Given the description of an element on the screen output the (x, y) to click on. 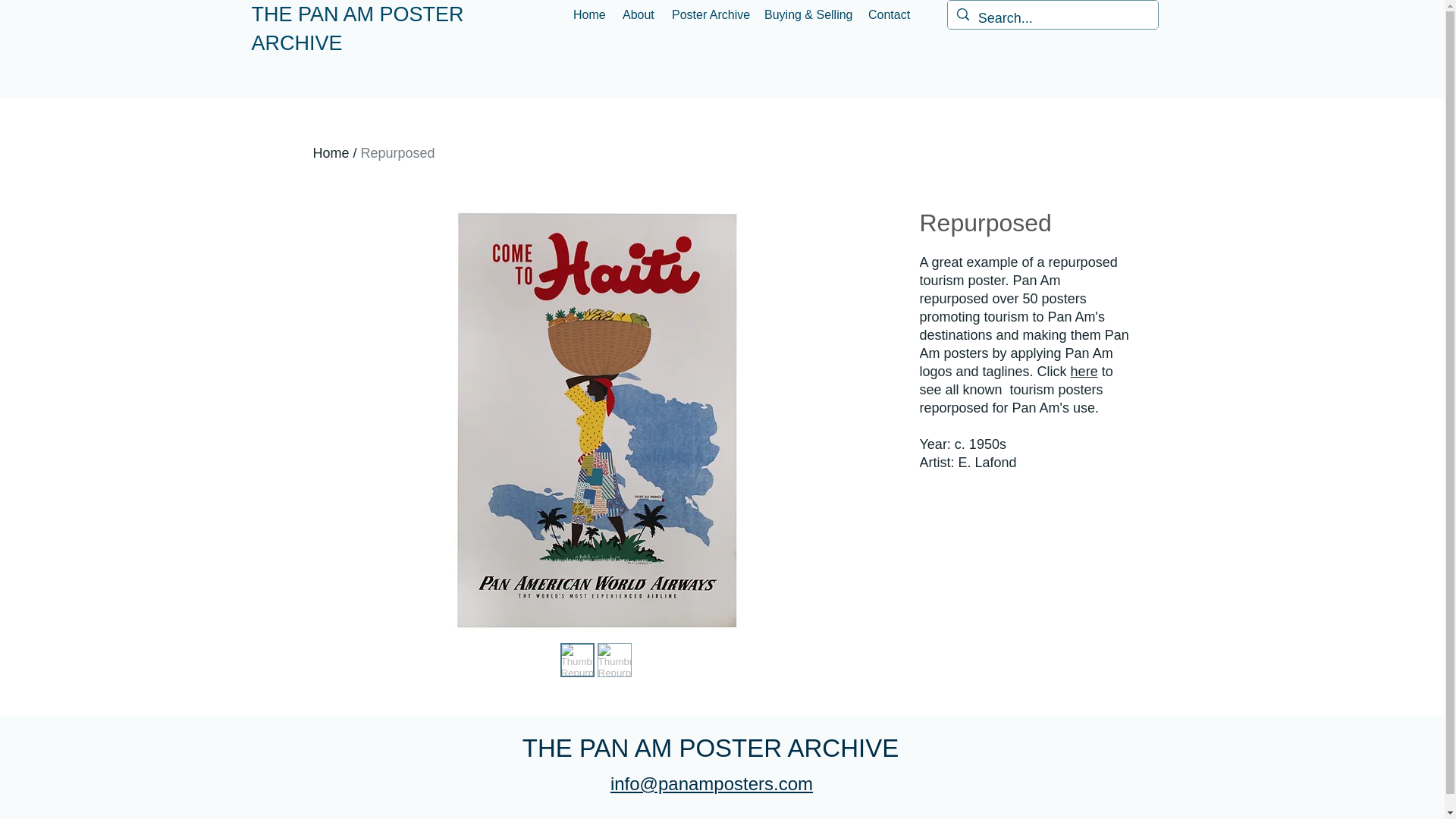
About (638, 14)
Home (590, 14)
Repurposed (398, 152)
Dynamic Wave Consulting (831, 818)
Poster Archive (710, 14)
Contact (889, 14)
Home (331, 152)
here (1083, 371)
